Given the description of an element on the screen output the (x, y) to click on. 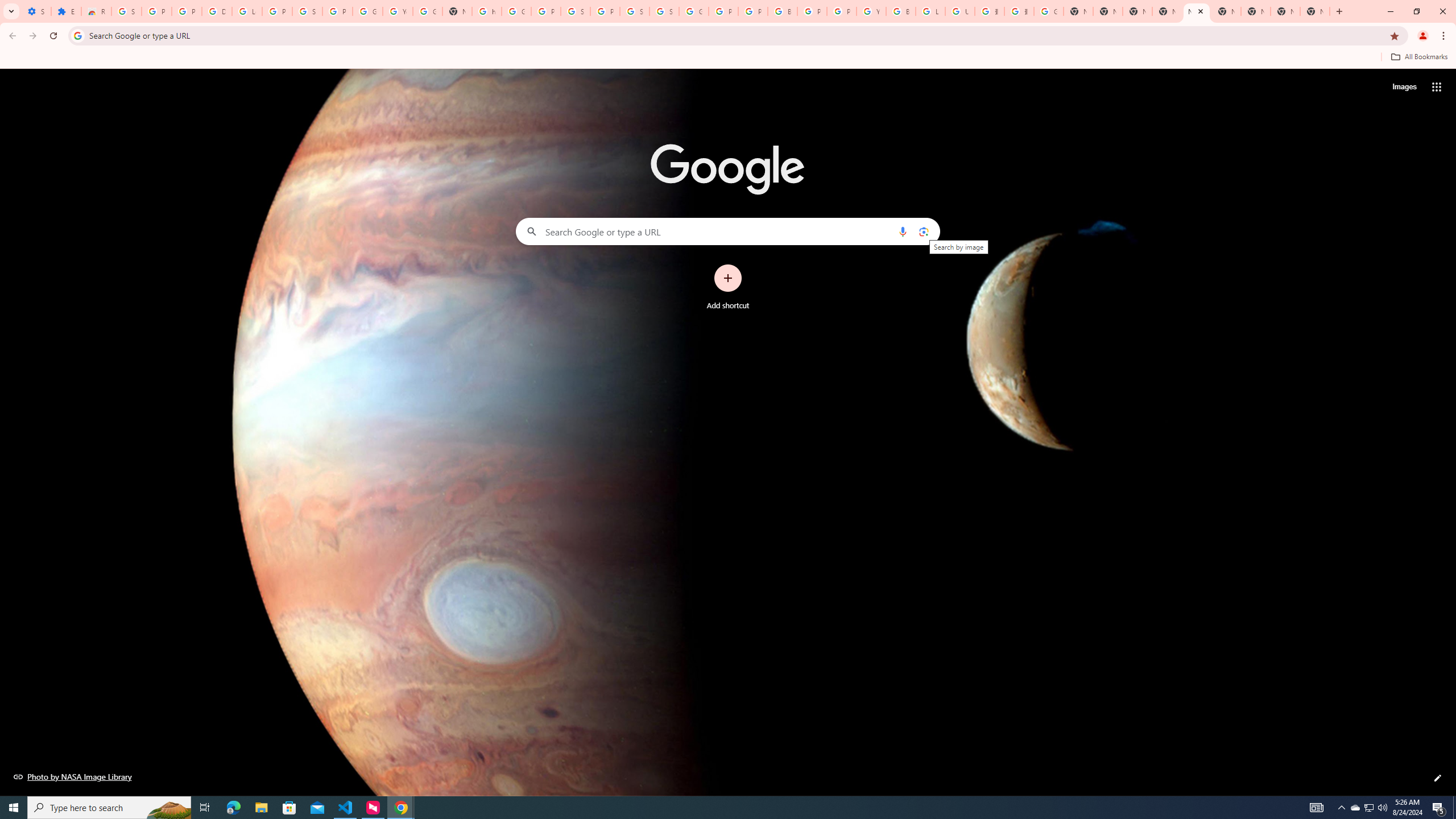
Search icon (77, 35)
Reviews: Helix Fruit Jump Arcade Game (95, 11)
